Given the description of an element on the screen output the (x, y) to click on. 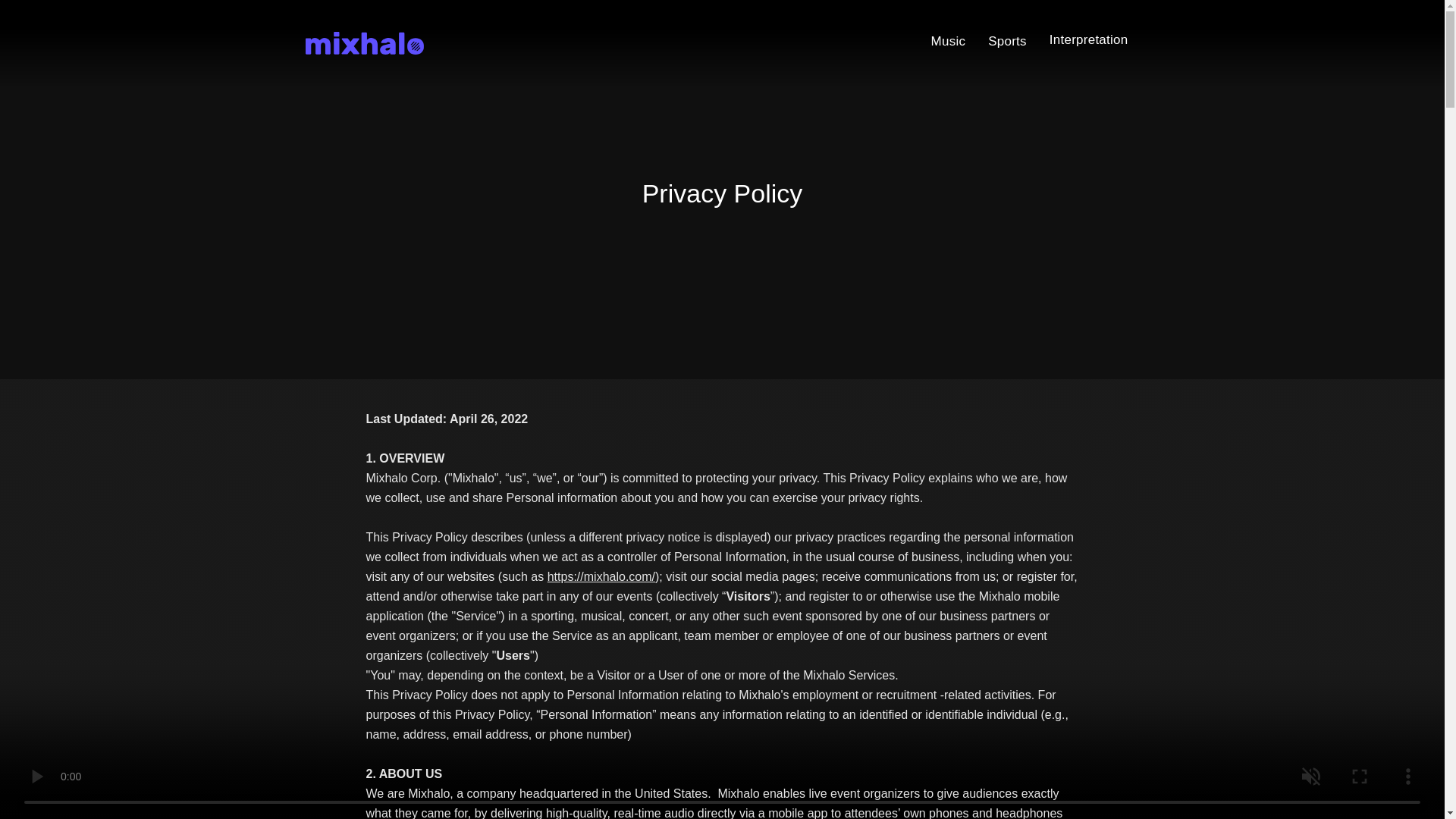
Interpretation (1088, 39)
Music (948, 41)
Sports (1006, 41)
